Given the description of an element on the screen output the (x, y) to click on. 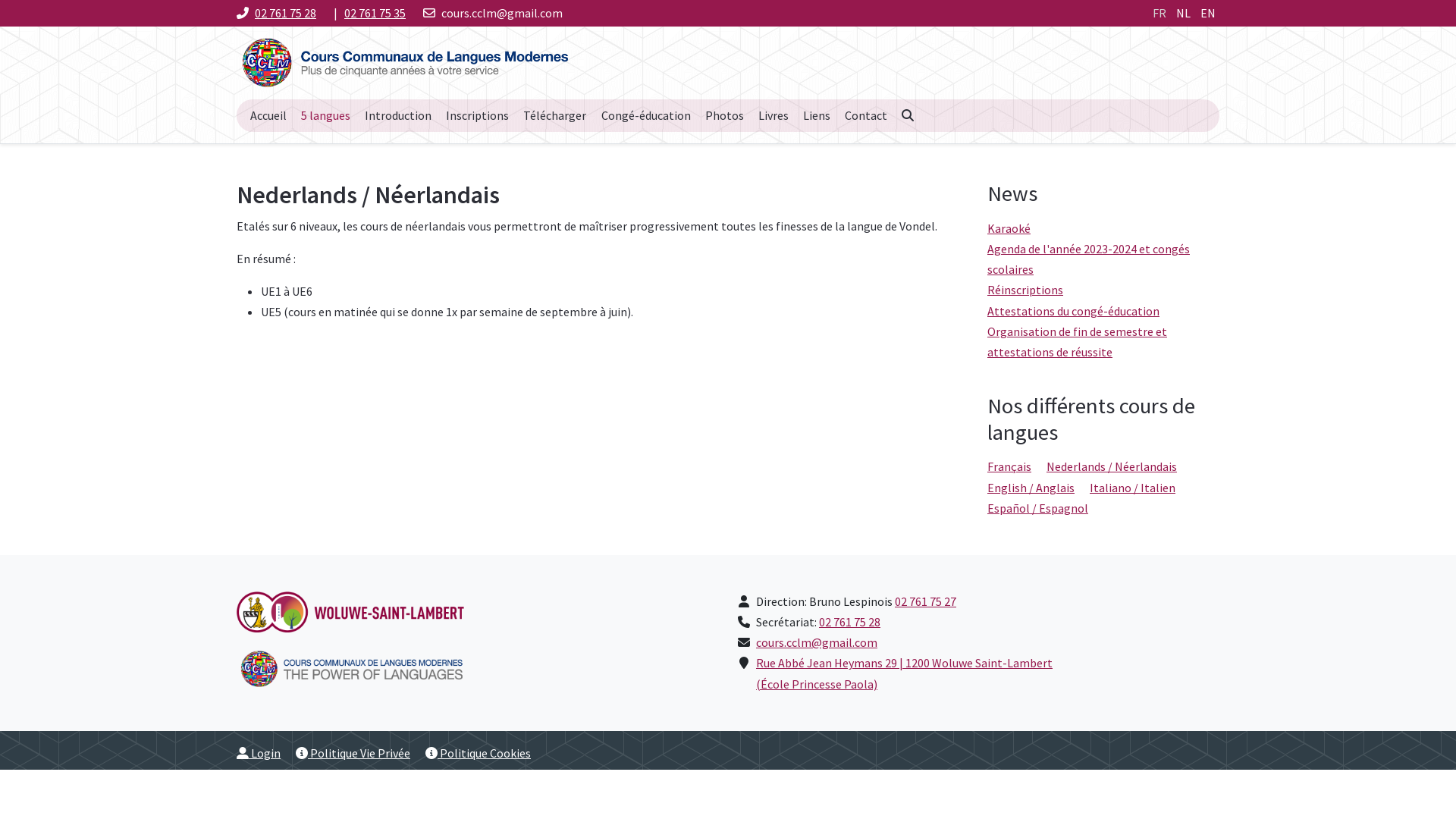
02 761 75 27 Element type: text (925, 600)
02 761 75 35 Element type: text (374, 12)
Liens Element type: text (816, 115)
English / Anglais Element type: text (1030, 487)
5 langues Element type: text (325, 115)
Inscriptions Element type: text (477, 115)
cours.cclm@gmail.com Element type: text (816, 641)
NL Element type: text (1184, 12)
Italiano / Italien Element type: text (1132, 487)
Recherche Element type: hover (907, 115)
EN Element type: text (1207, 12)
Photos Element type: text (723, 115)
cours.cclm@gmail.com Element type: text (501, 12)
Politique Cookies Element type: text (477, 752)
Introduction Element type: text (397, 115)
Livres Element type: text (772, 115)
FR Element type: text (1160, 12)
02 761 75 28 Element type: text (849, 621)
Contact Element type: text (865, 115)
Accueil Element type: text (267, 115)
Login Element type: text (258, 752)
02 761 75 28 Element type: text (285, 12)
